Given the description of an element on the screen output the (x, y) to click on. 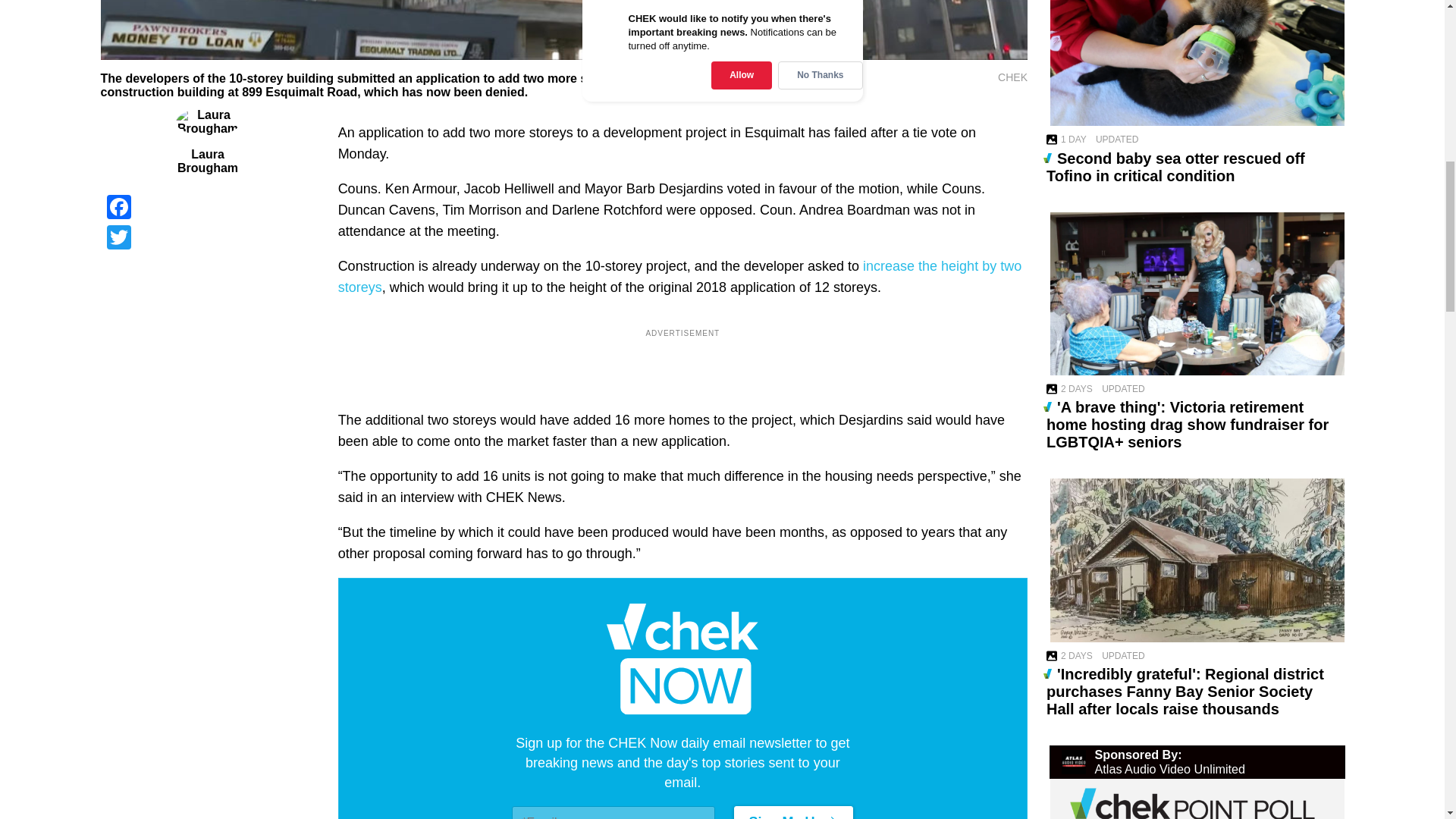
Facebook (207, 206)
Twitter (207, 236)
